Given the description of an element on the screen output the (x, y) to click on. 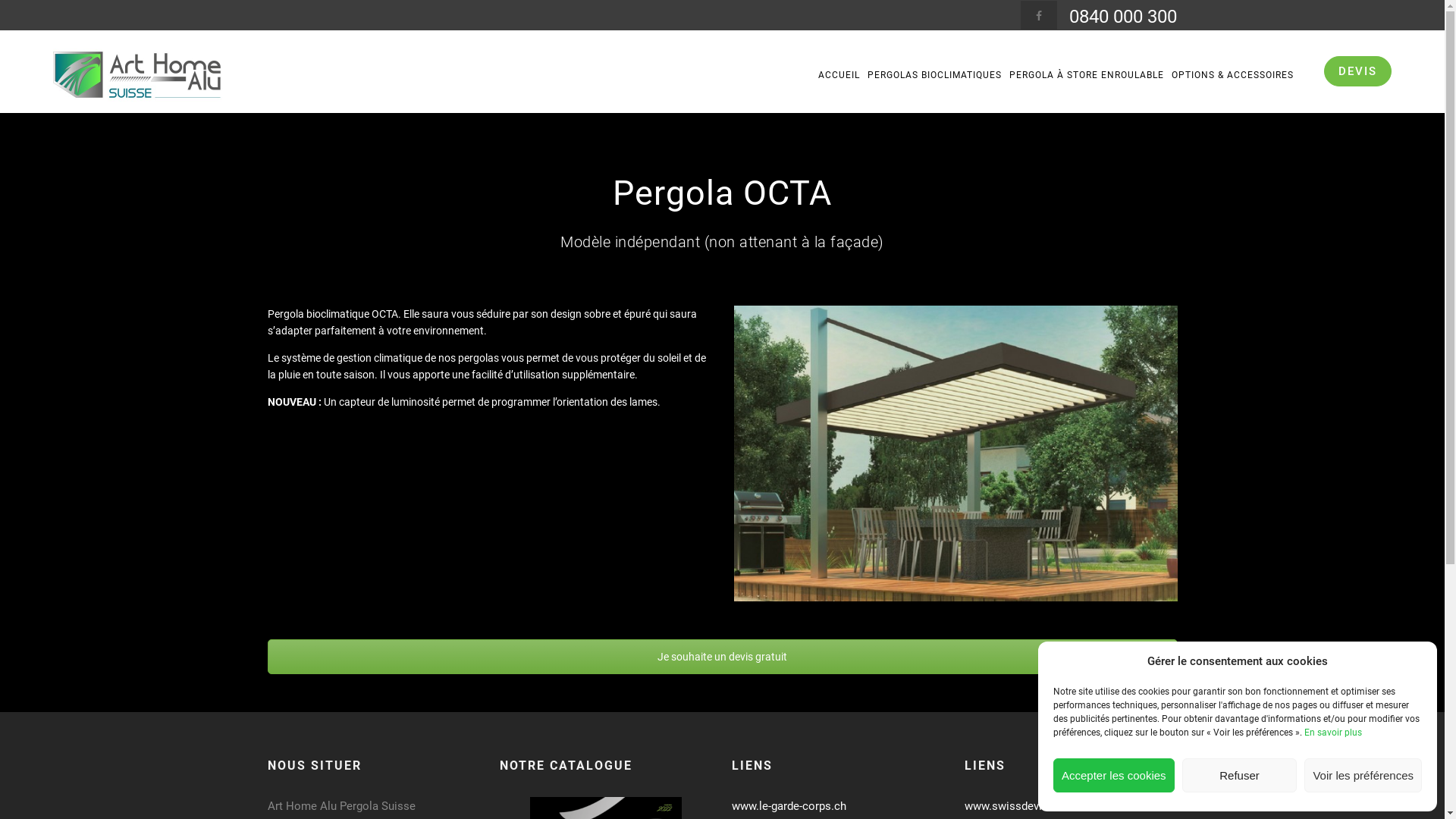
www.le-garde-corps.ch Element type: text (788, 805)
PERGOLAS BIOCLIMATIQUES Element type: text (934, 74)
En savoir plus Element type: text (1332, 732)
OPTIONS & ACCESSOIRES Element type: text (1232, 74)
Je souhaite un devis gratuit Element type: text (721, 656)
DEVIS Element type: text (1357, 71)
Accepter les cookies Element type: text (1113, 775)
Refuser Element type: text (1239, 775)
ACCUEIL Element type: text (838, 74)
www.swissdevis.ch Element type: text (1013, 805)
